Given the description of an element on the screen output the (x, y) to click on. 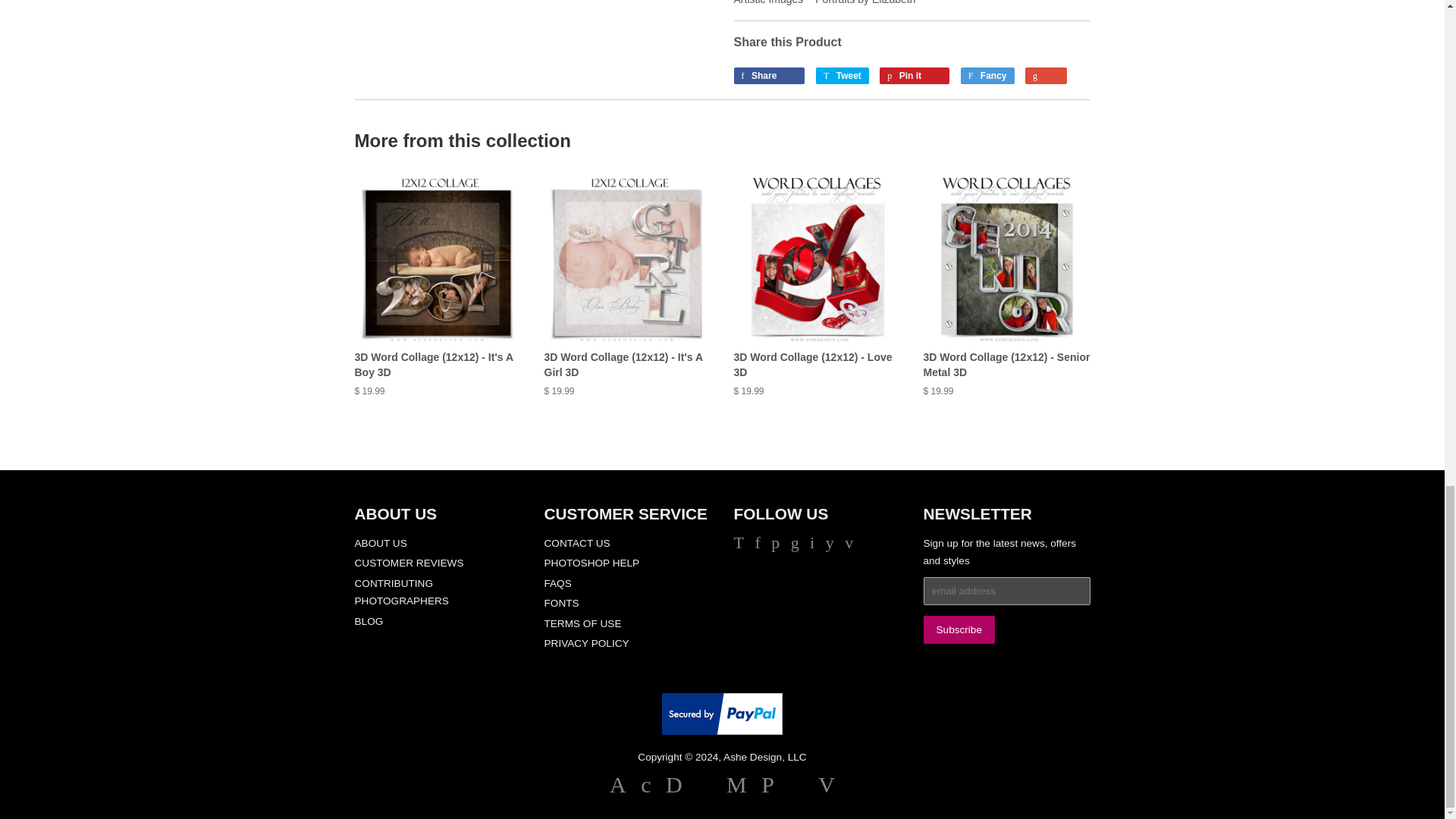
Subscribe (958, 629)
